Given the description of an element on the screen output the (x, y) to click on. 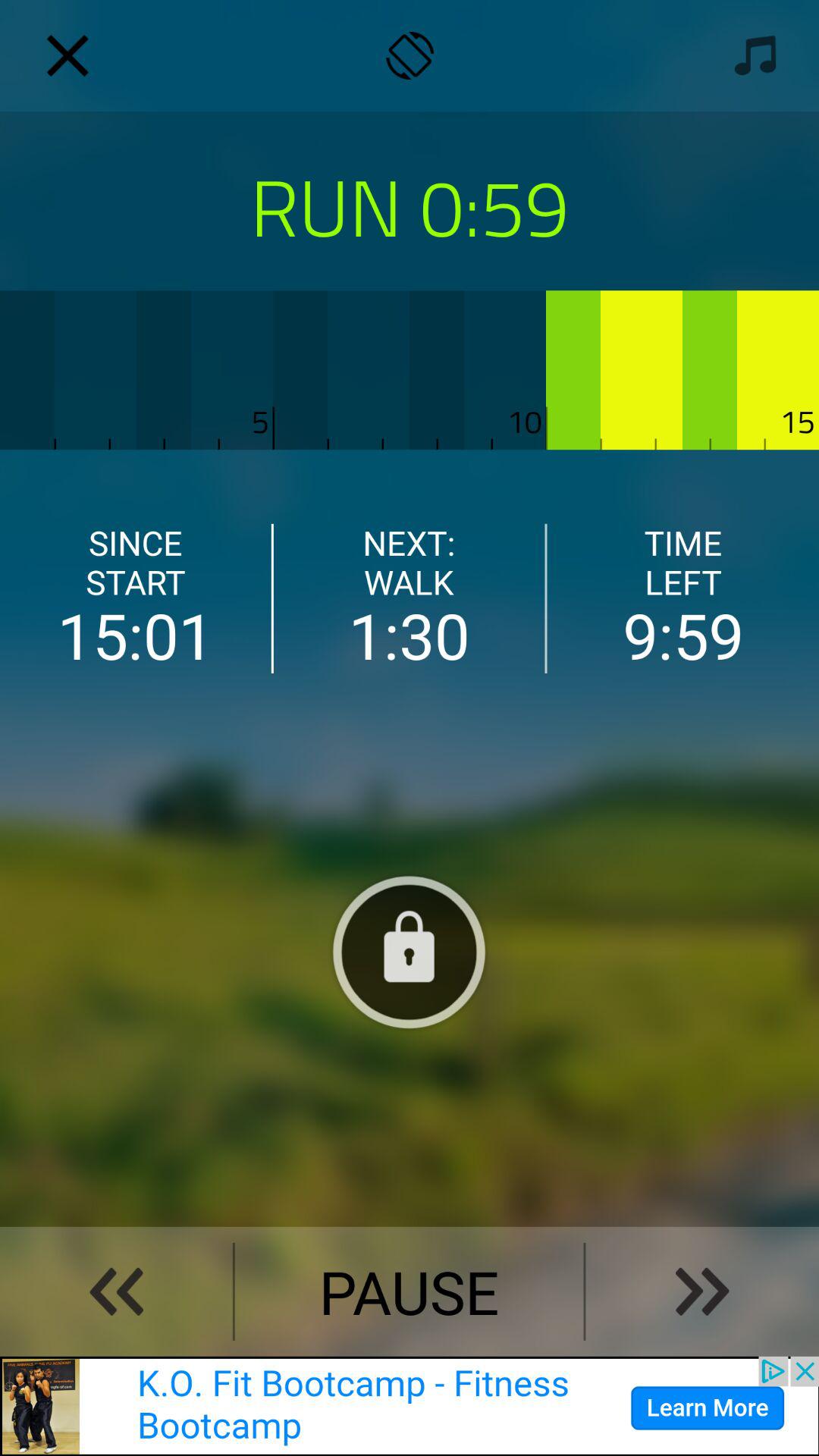
music (751, 55)
